Given the description of an element on the screen output the (x, y) to click on. 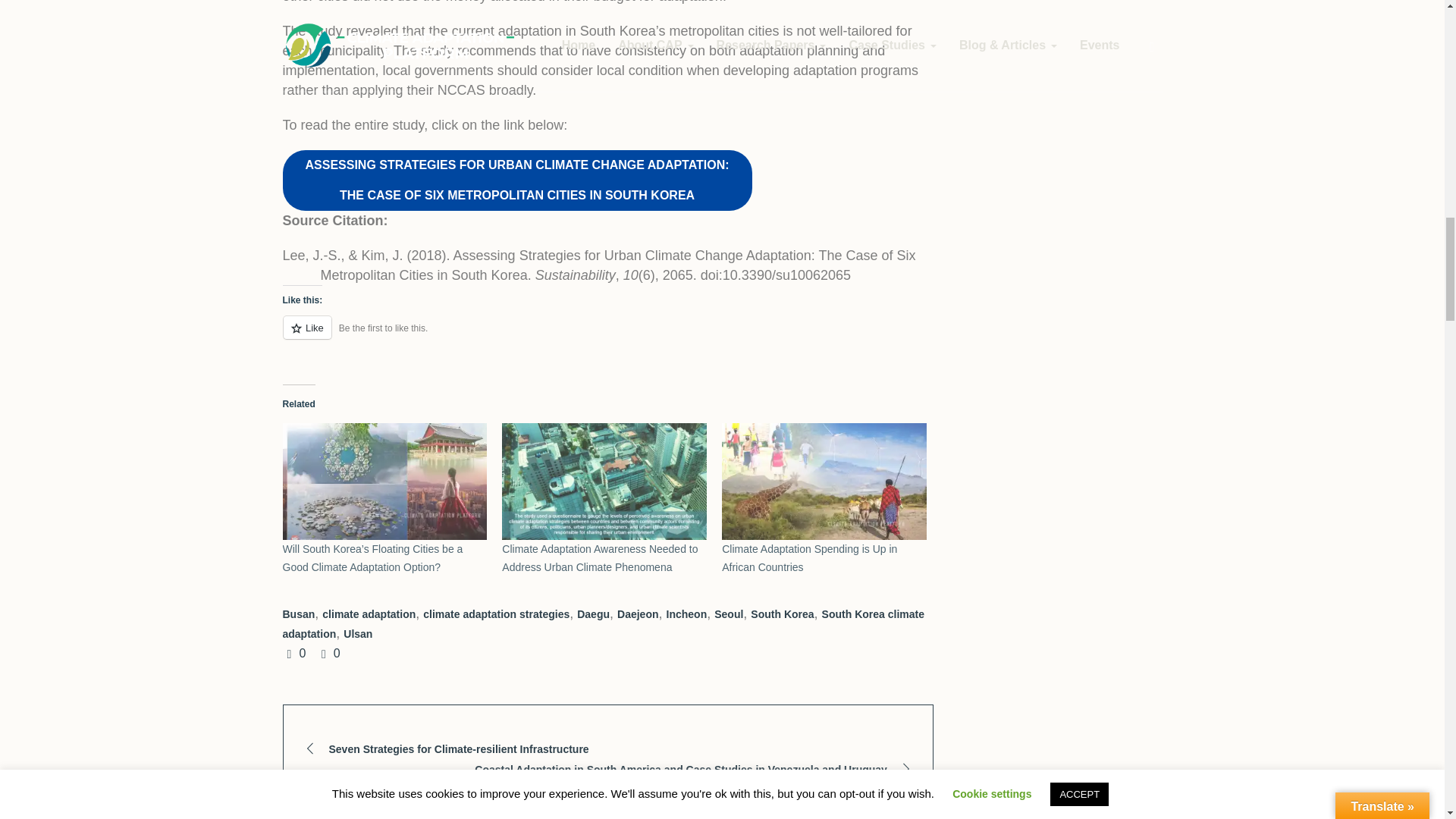
Like or Reblog (607, 336)
